Given the description of an element on the screen output the (x, y) to click on. 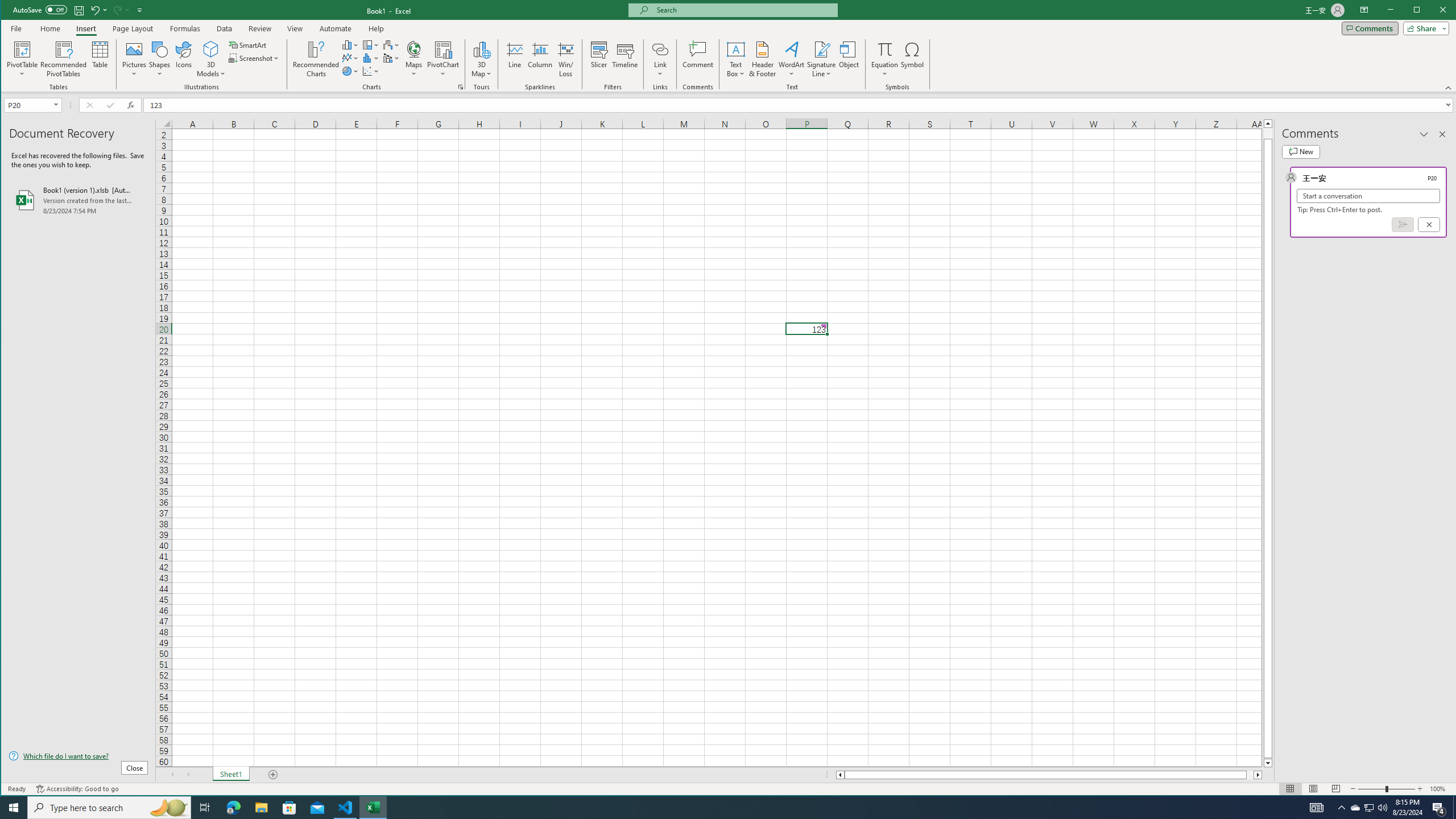
Comment (697, 59)
Insert Statistic Chart (371, 57)
Maps (413, 59)
Link (659, 59)
Slicer... (598, 59)
Insert Waterfall, Funnel, Stock, Surface, or Radar Chart (391, 44)
Insert Combo Chart (391, 57)
Action Center, 4 new notifications (1439, 807)
